Given the description of an element on the screen output the (x, y) to click on. 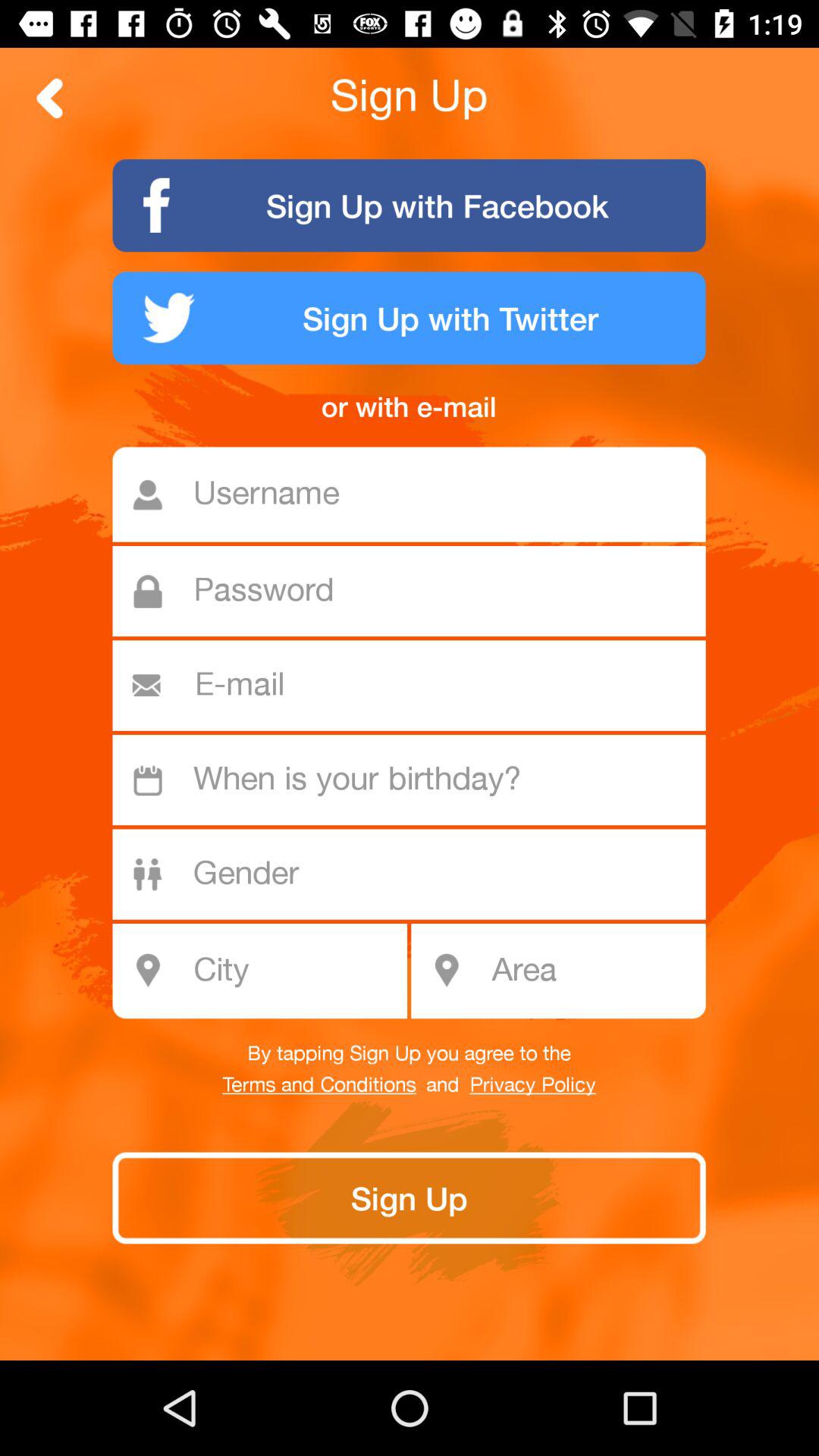
tap icon to the right of the and (532, 1085)
